Given the description of an element on the screen output the (x, y) to click on. 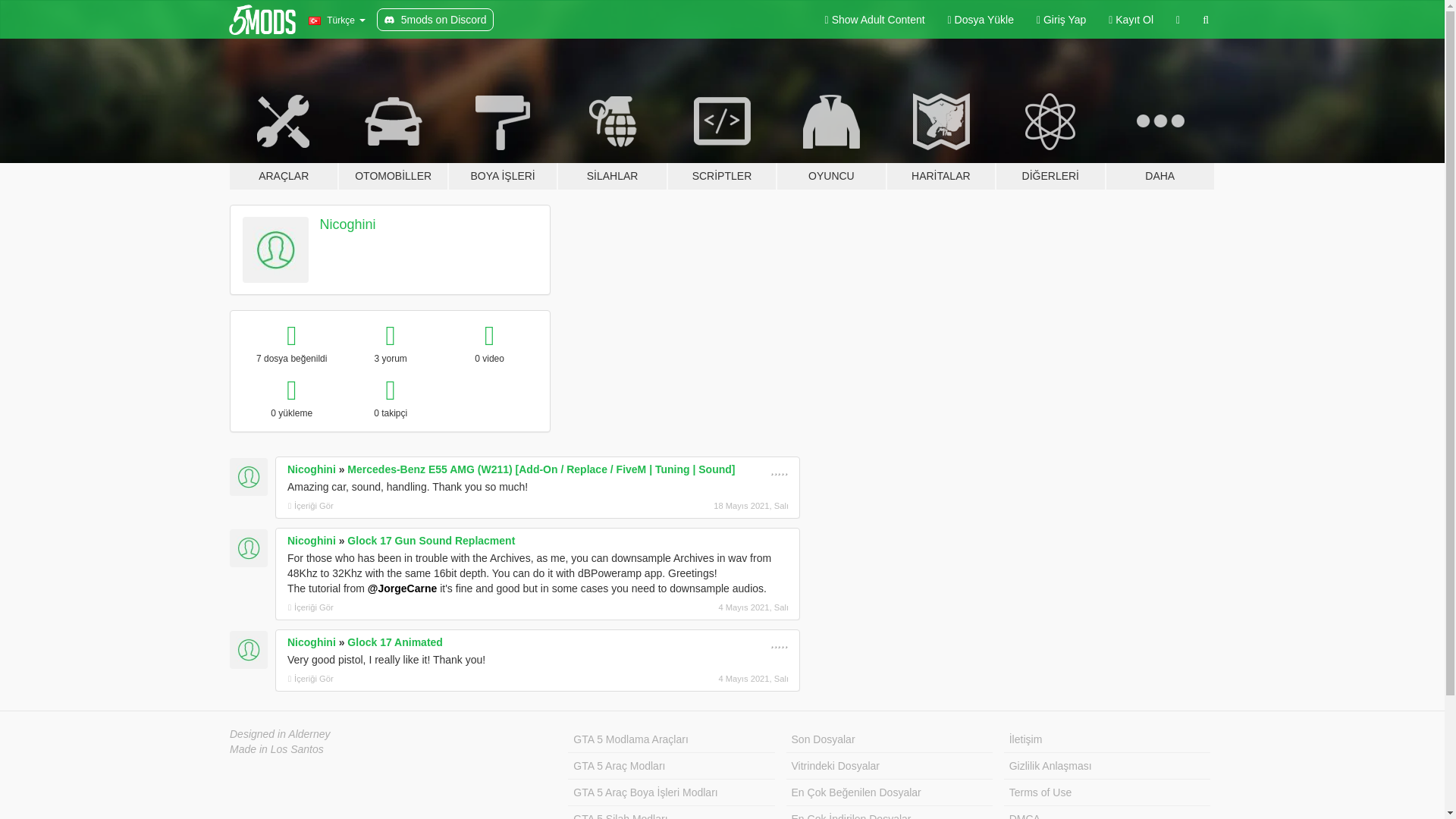
Dark mode (1177, 19)
Show Adult Content (874, 19)
5mods on Discord (435, 19)
Sal 18.May.21 03:08 (708, 505)
Sal 04.May.21 06:44 (708, 607)
Light mode (874, 19)
Sal 04.May.21 02:26 (708, 678)
